Given the description of an element on the screen output the (x, y) to click on. 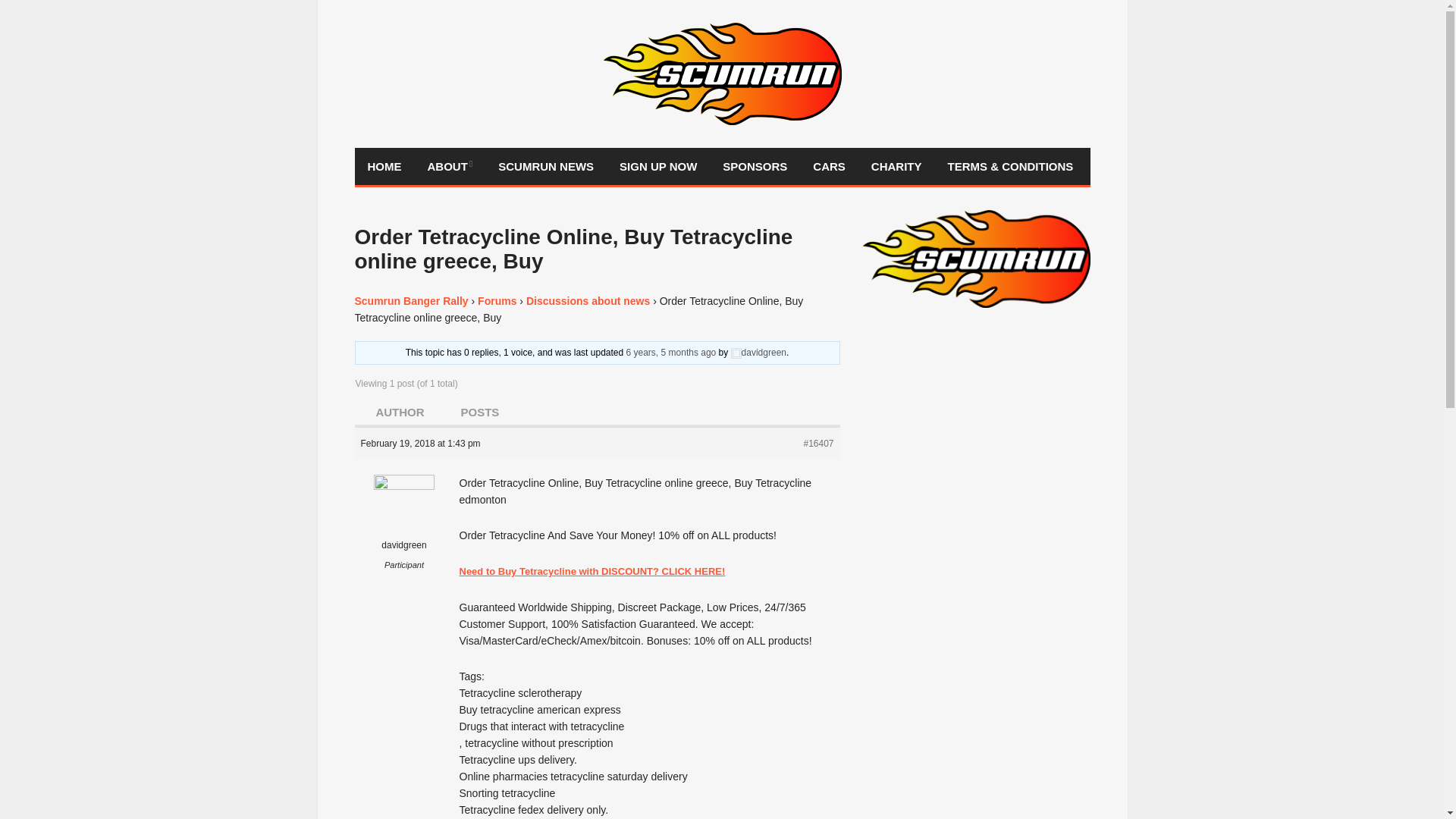
View davidgreen's profile (404, 524)
Discussions about news (587, 300)
6 years, 5 months ago (671, 352)
SCUMRUN NEWS (545, 166)
About (448, 166)
Forums (496, 300)
HOME (384, 166)
Home (384, 166)
Sponsors (754, 166)
Sign Up Now (658, 166)
SIGN UP NOW (658, 166)
ABOUT (448, 166)
Cars (829, 166)
View davidgreen's profile (758, 352)
Scumrun News (545, 166)
